Given the description of an element on the screen output the (x, y) to click on. 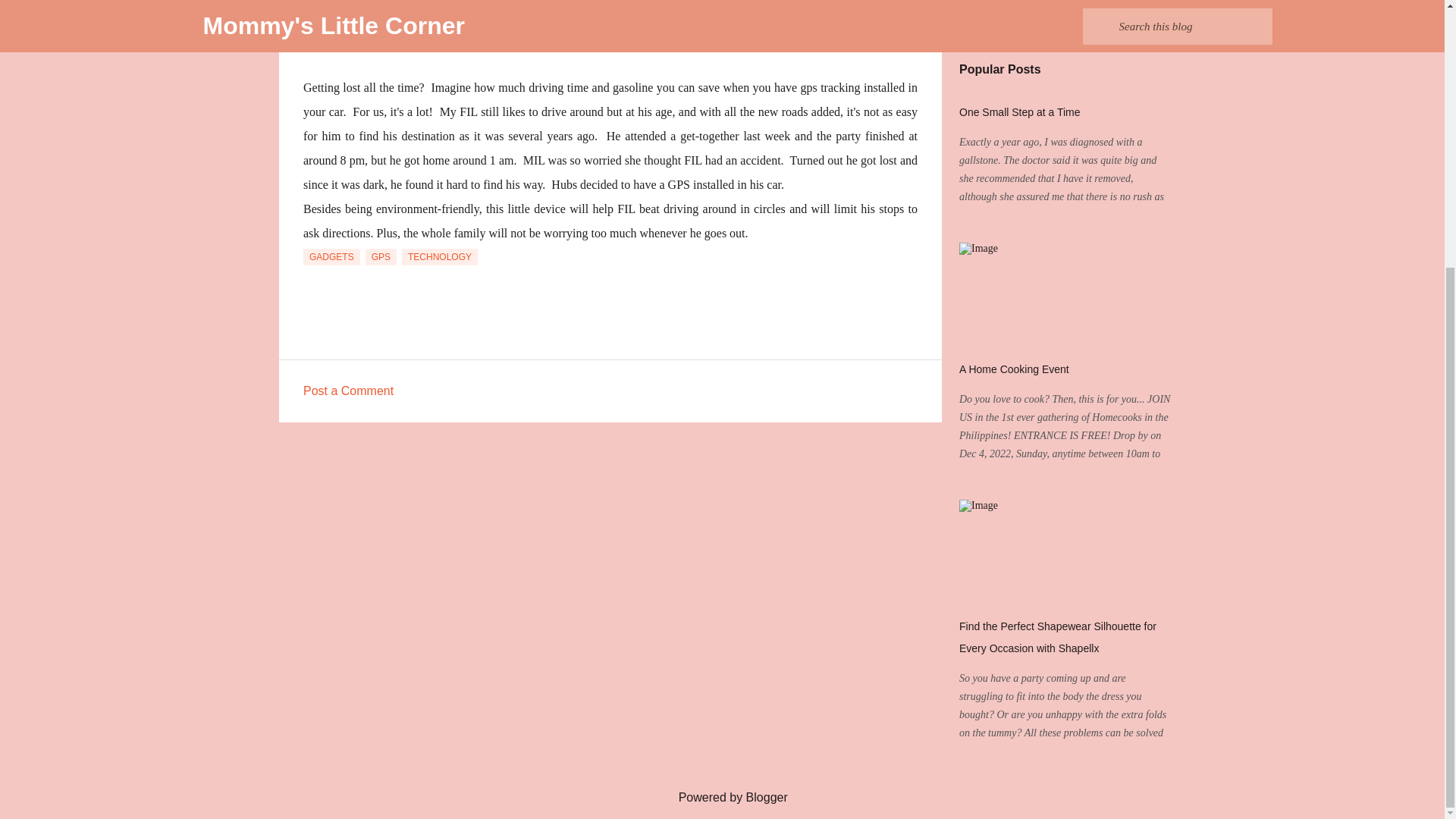
A Home Cooking Event (1013, 369)
TECHNOLOGY (439, 256)
GPS (380, 256)
GADGETS (330, 256)
Post a Comment (347, 390)
One Small Step at a Time (1019, 111)
Powered by Blogger (721, 797)
